Given the description of an element on the screen output the (x, y) to click on. 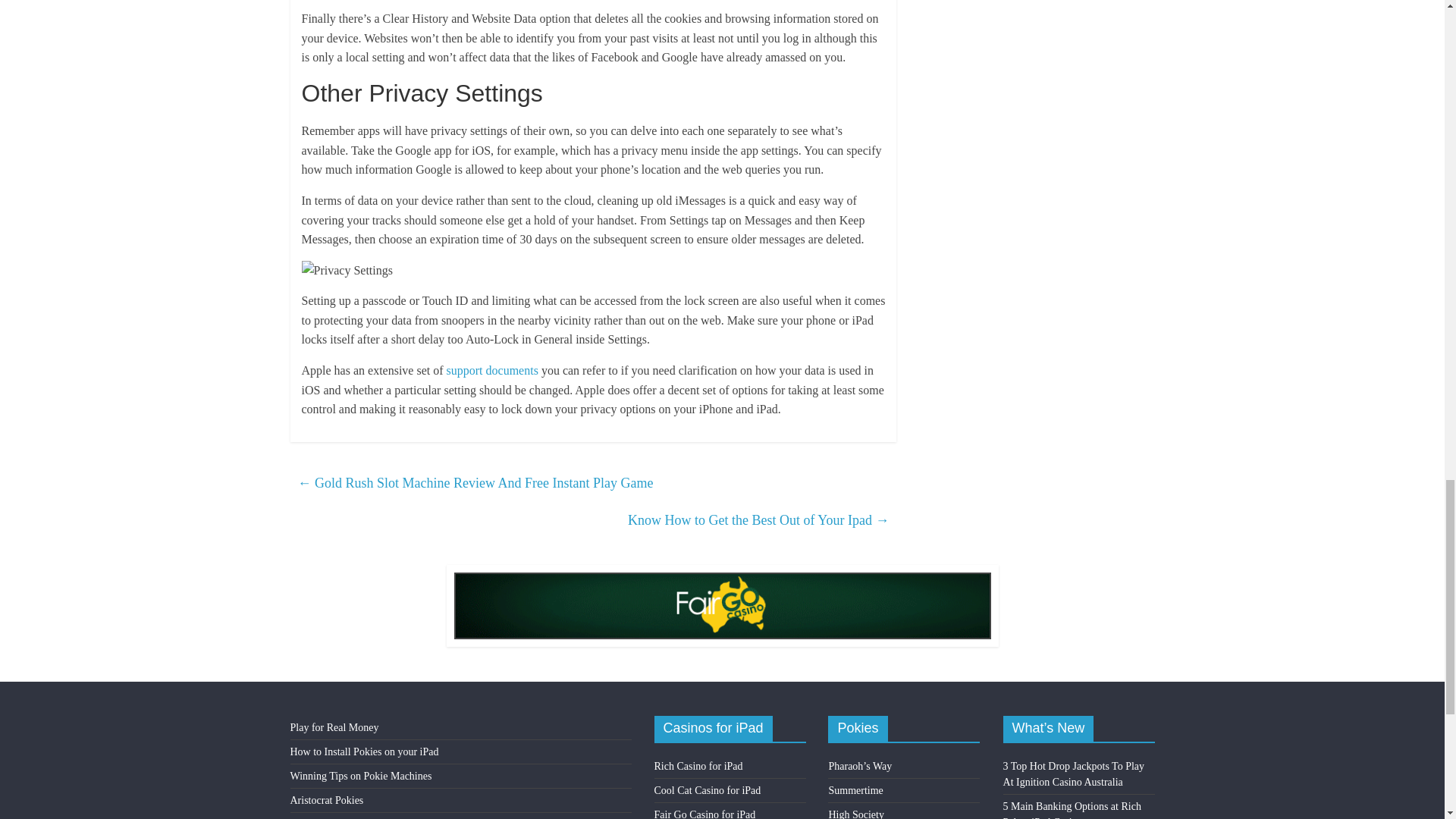
High Society (855, 814)
Aristocrat Pokies (325, 799)
Play for Real Money (333, 727)
5 Main Banking Options at Rich Palms iPad Casino (1072, 809)
support documents (492, 369)
Winning Tips on Pokie Machines (359, 776)
3 Top Hot Drop Jackpots To Play At Ignition Casino Australia (1073, 773)
Fair Go Casino for iPad (704, 814)
How to Install Pokies on your iPad (363, 751)
Rich Casino for iPad (697, 766)
Summertime (855, 790)
Cool Cat Casino for iPad (707, 790)
